Given the description of an element on the screen output the (x, y) to click on. 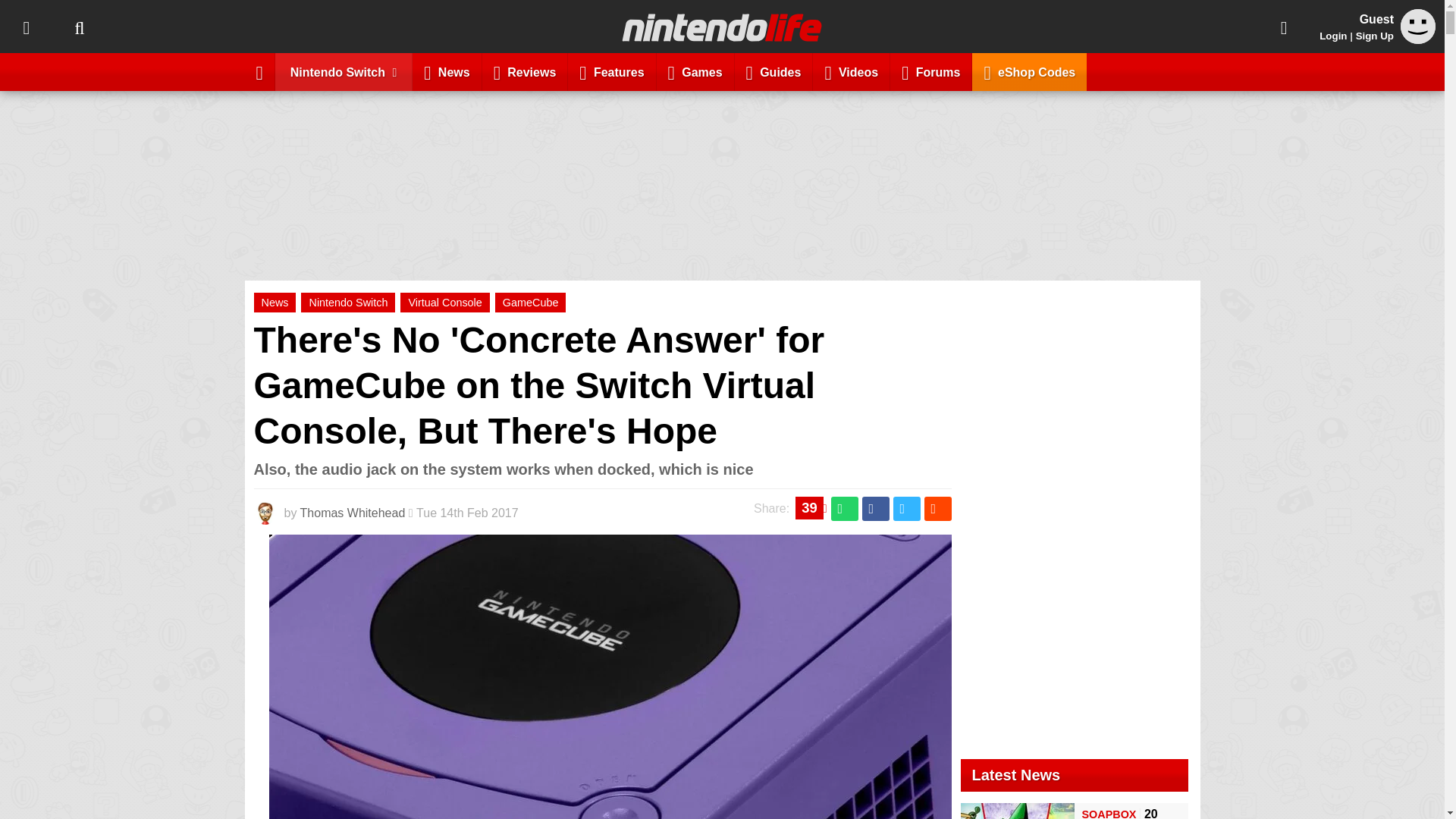
News (274, 302)
Videos (850, 71)
eShop Codes (1029, 71)
Reviews (525, 71)
Nintendo Switch (344, 71)
News (446, 71)
Guest (1417, 39)
Share this on Facebook (874, 508)
Features (611, 71)
Nintendo Life (721, 27)
Topics (26, 26)
Search (79, 26)
Sign Up (1374, 35)
Nintendo Switch (347, 302)
